Given the description of an element on the screen output the (x, y) to click on. 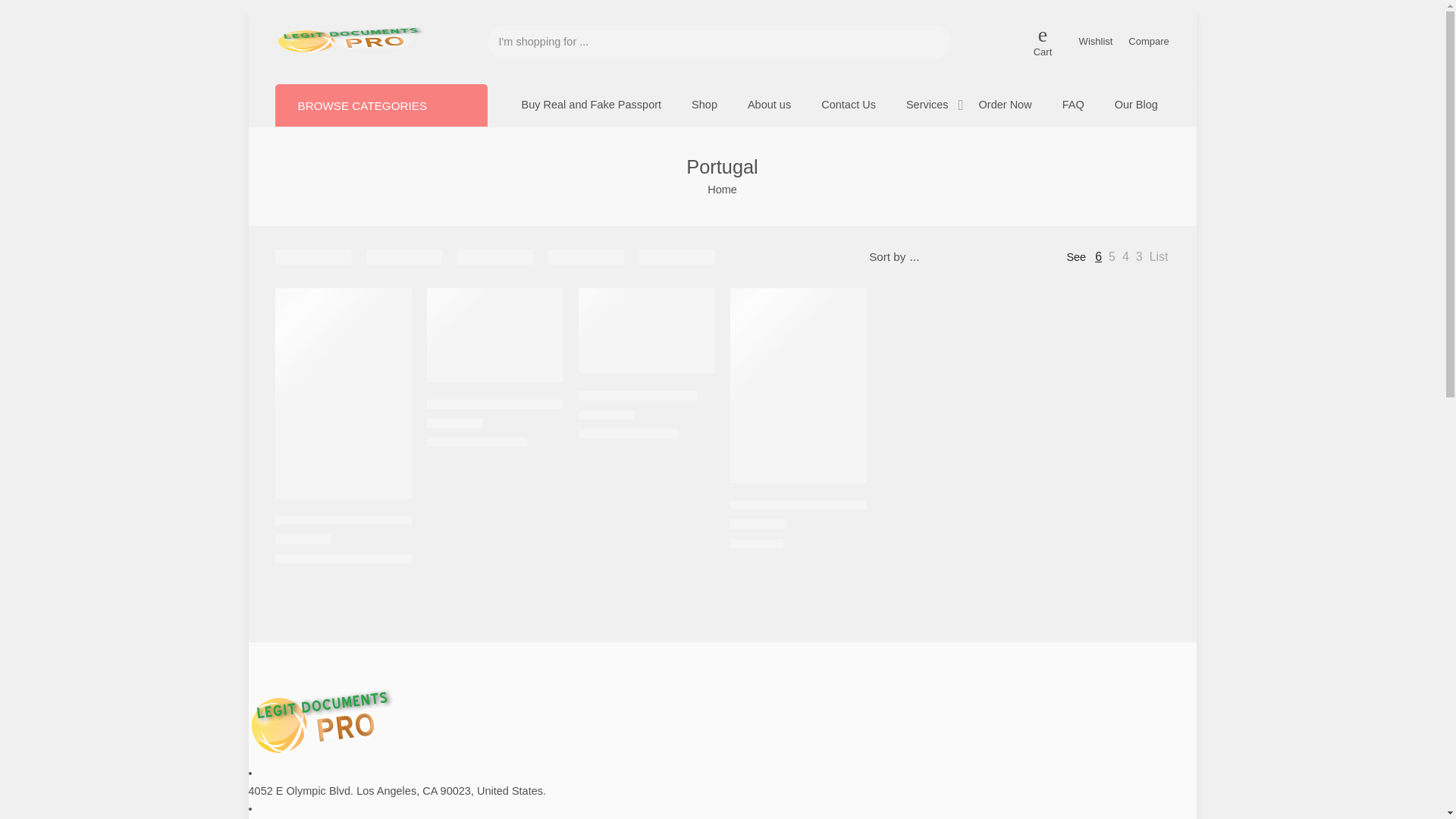
Services (927, 105)
Wishlist (1095, 41)
Compare (1149, 41)
About us (769, 105)
Wishlist (1095, 41)
Our Blog (1136, 105)
Cart (1043, 41)
Compare (1149, 41)
Order Now (1005, 105)
Home (721, 189)
Buy Real and Fake Passport (591, 105)
Cart (1043, 41)
Contact Us (848, 105)
